Given the description of an element on the screen output the (x, y) to click on. 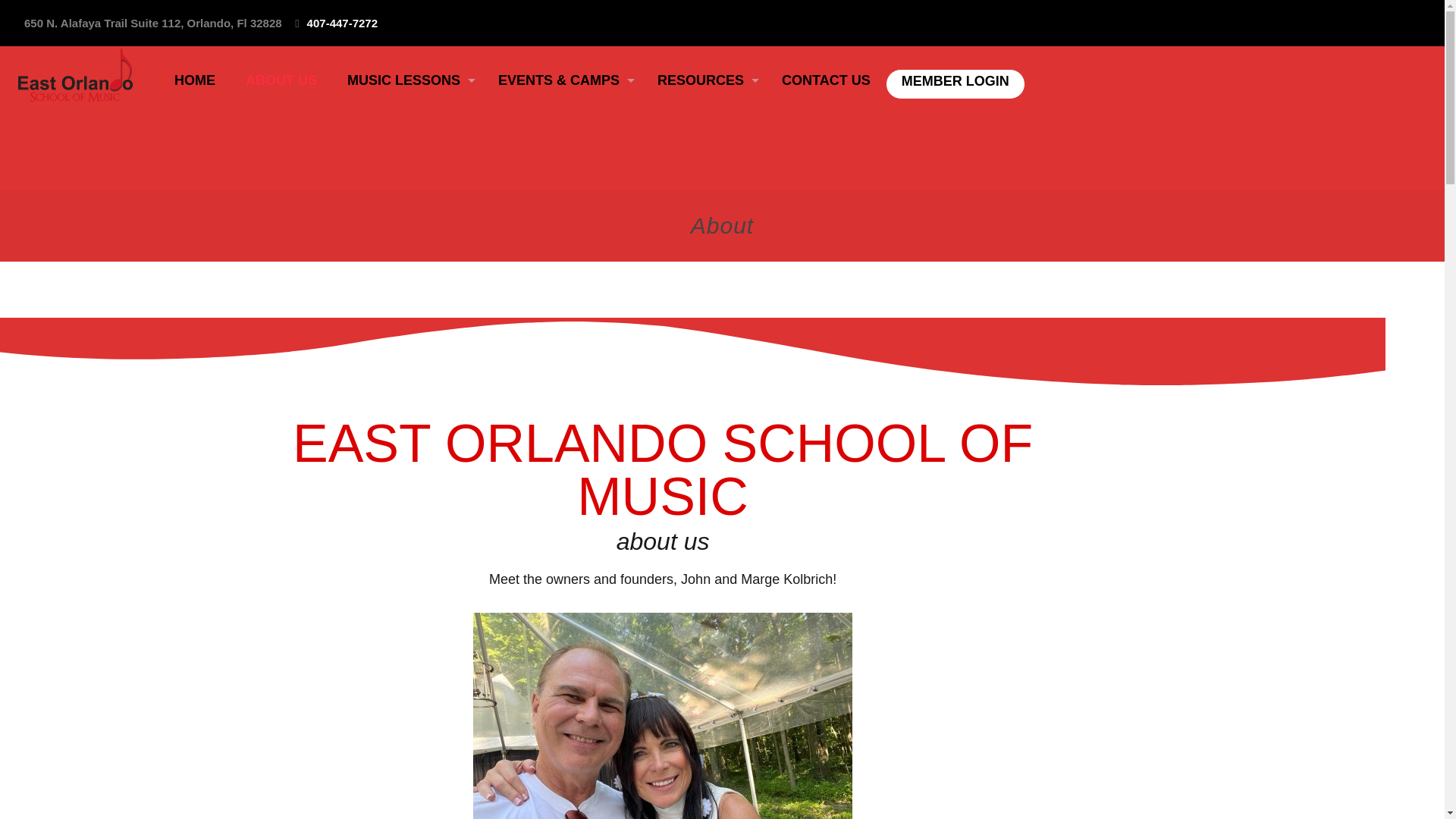
East Orlando School of Music (75, 76)
407-447-7272 (342, 22)
RESOURCES (704, 79)
CONTACT US (826, 79)
MEMBER LOGIN (955, 80)
ABOUT US (280, 79)
MUSIC LESSONS (407, 79)
HOME (194, 79)
